Given the description of an element on the screen output the (x, y) to click on. 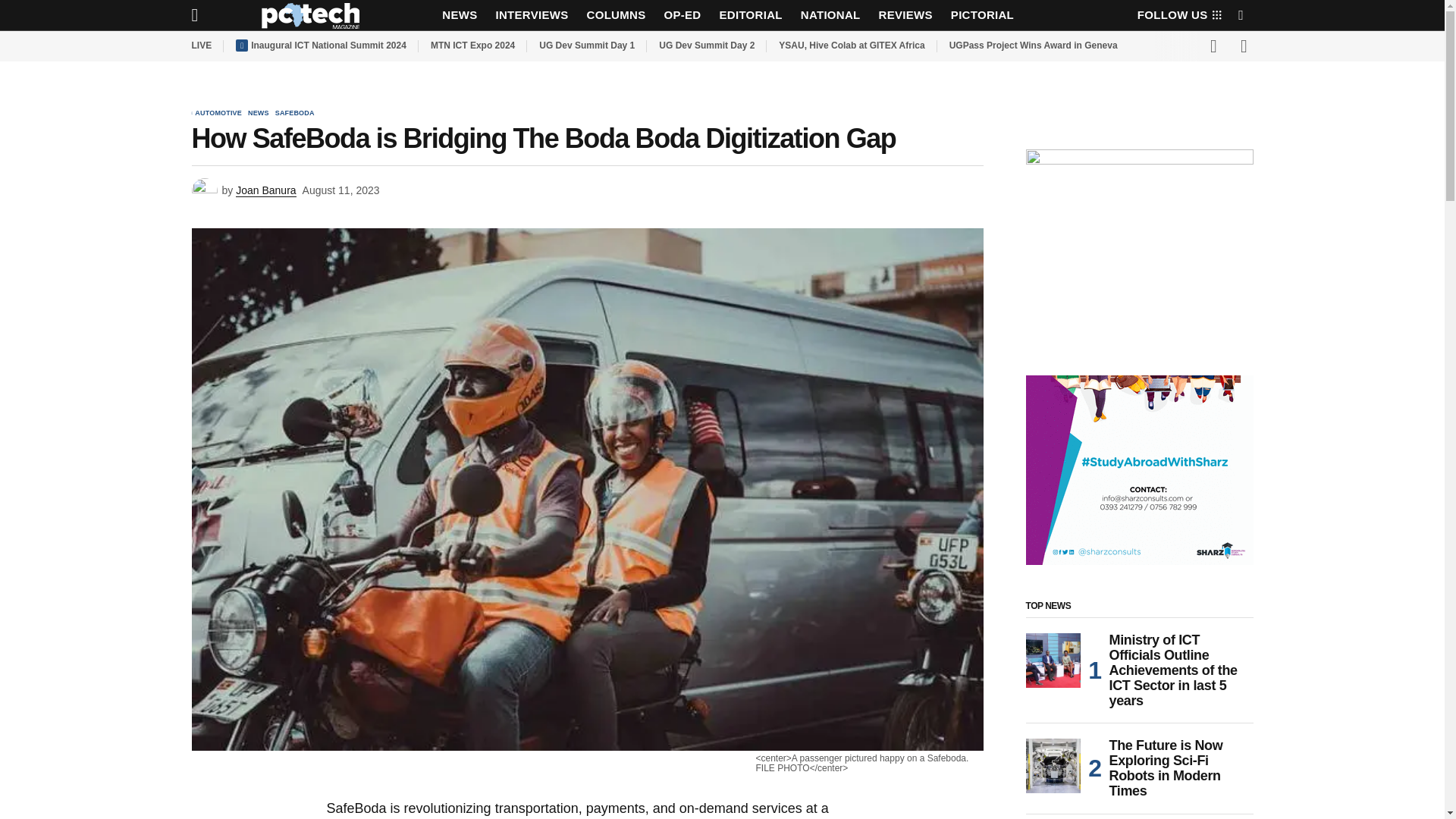
NEWS (459, 15)
INTERVIEWS (531, 15)
COLUMNS (616, 15)
